Given the description of an element on the screen output the (x, y) to click on. 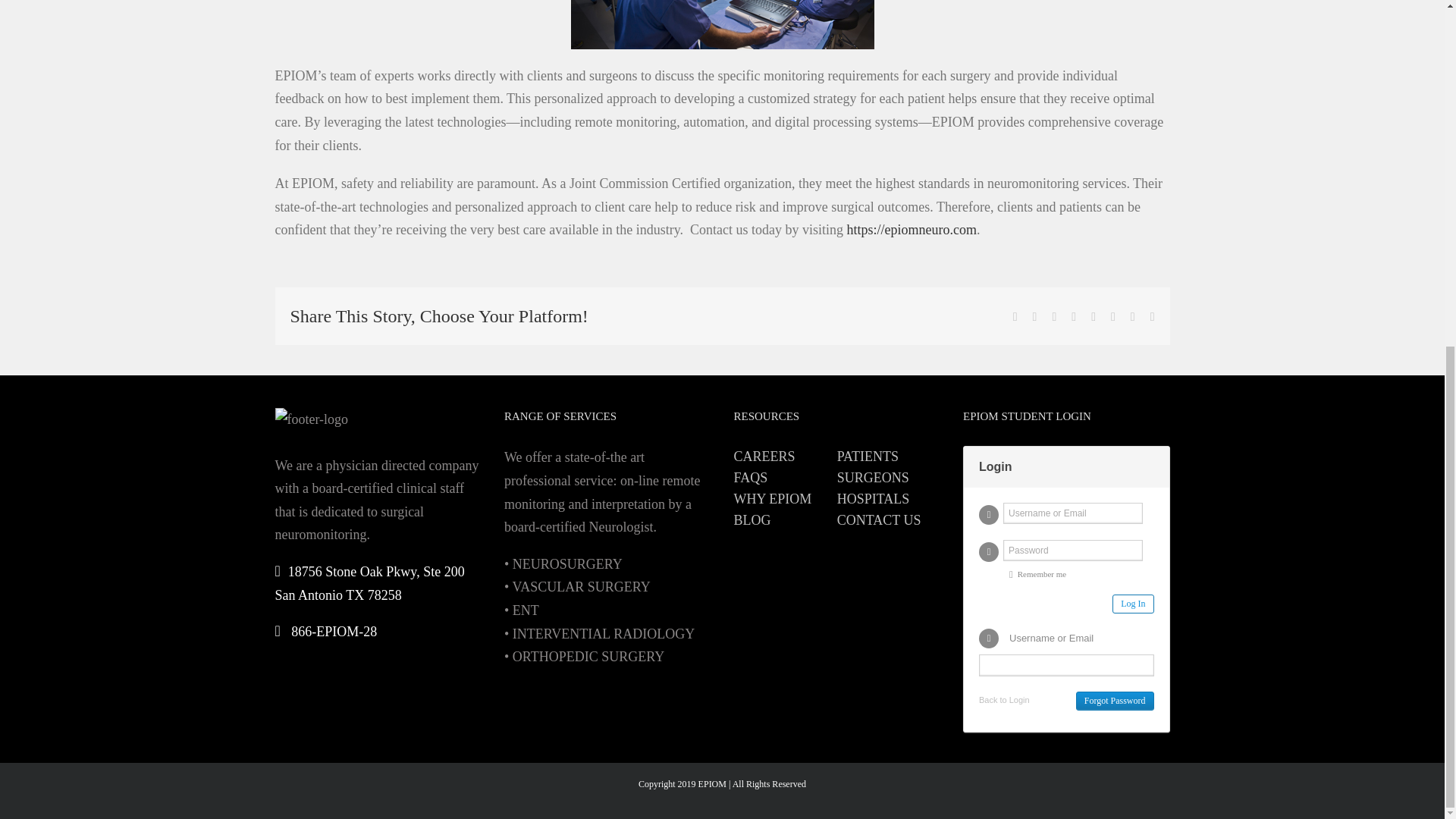
WHY EPIOM (785, 498)
FAQS (785, 477)
Back to Login (1003, 699)
Log In (1132, 603)
CAREERS (785, 455)
Forgot Password (1114, 700)
